Given the description of an element on the screen output the (x, y) to click on. 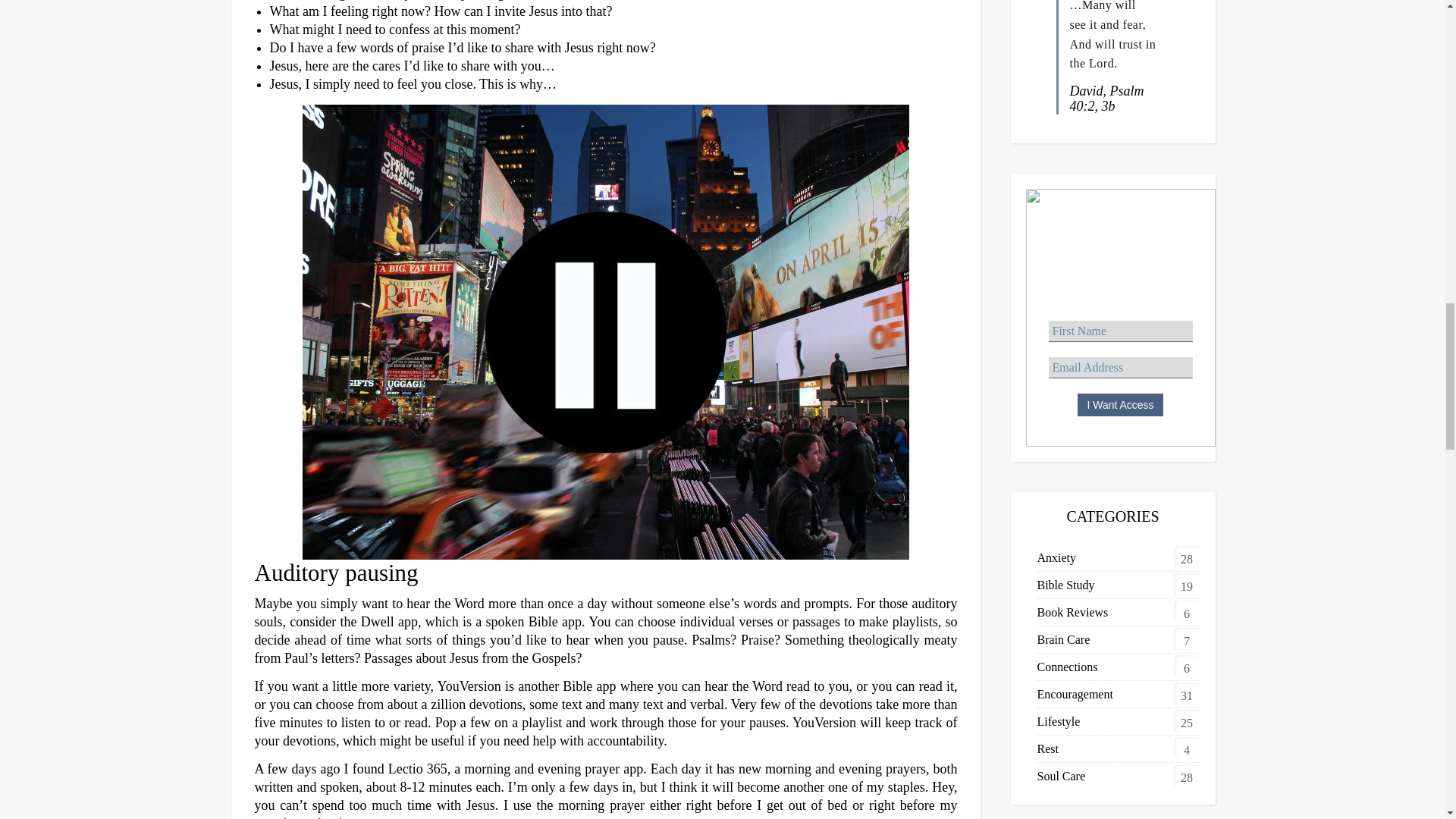
I Want Access (1120, 404)
